Given the description of an element on the screen output the (x, y) to click on. 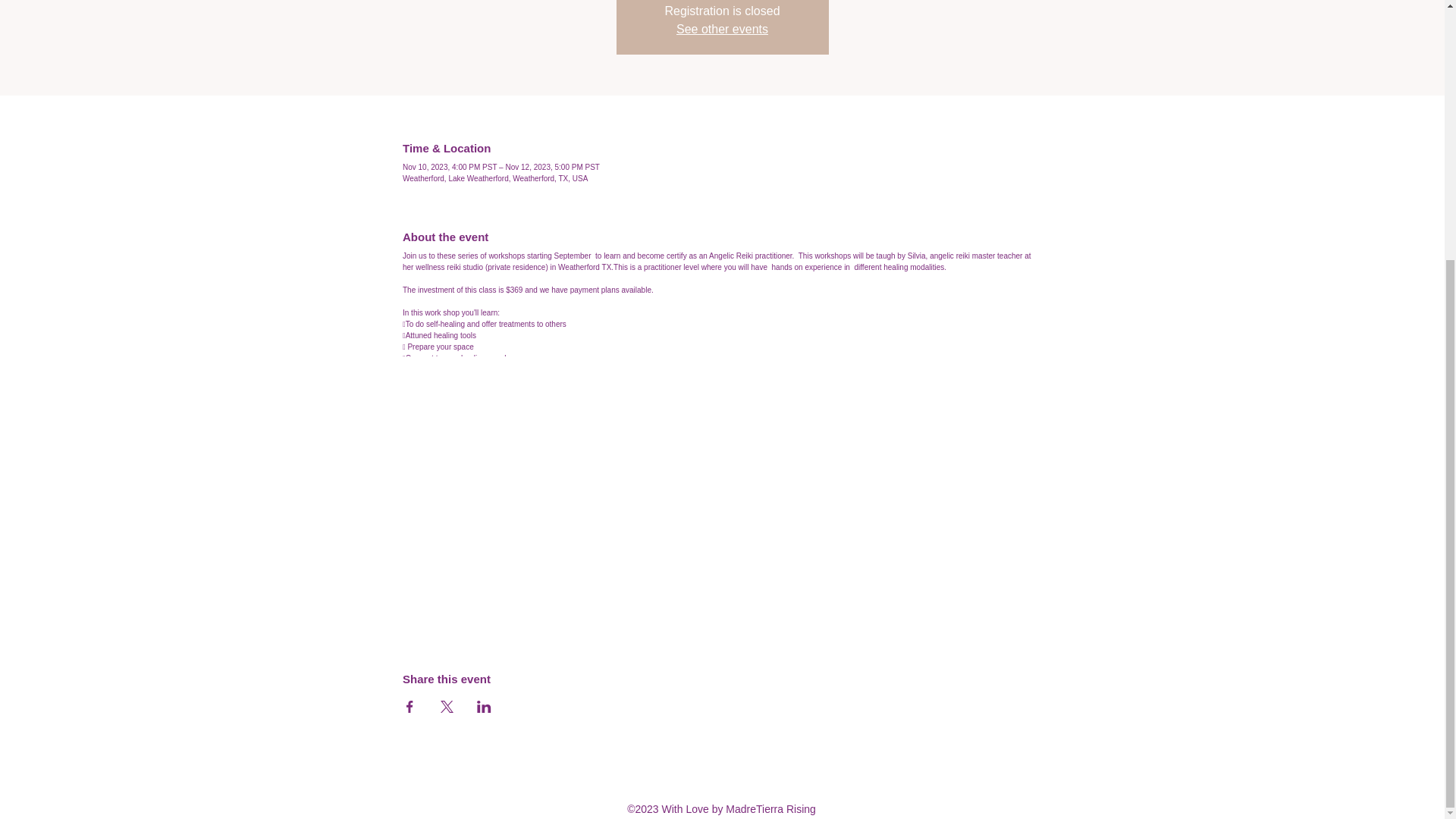
See other events (722, 29)
